Given the description of an element on the screen output the (x, y) to click on. 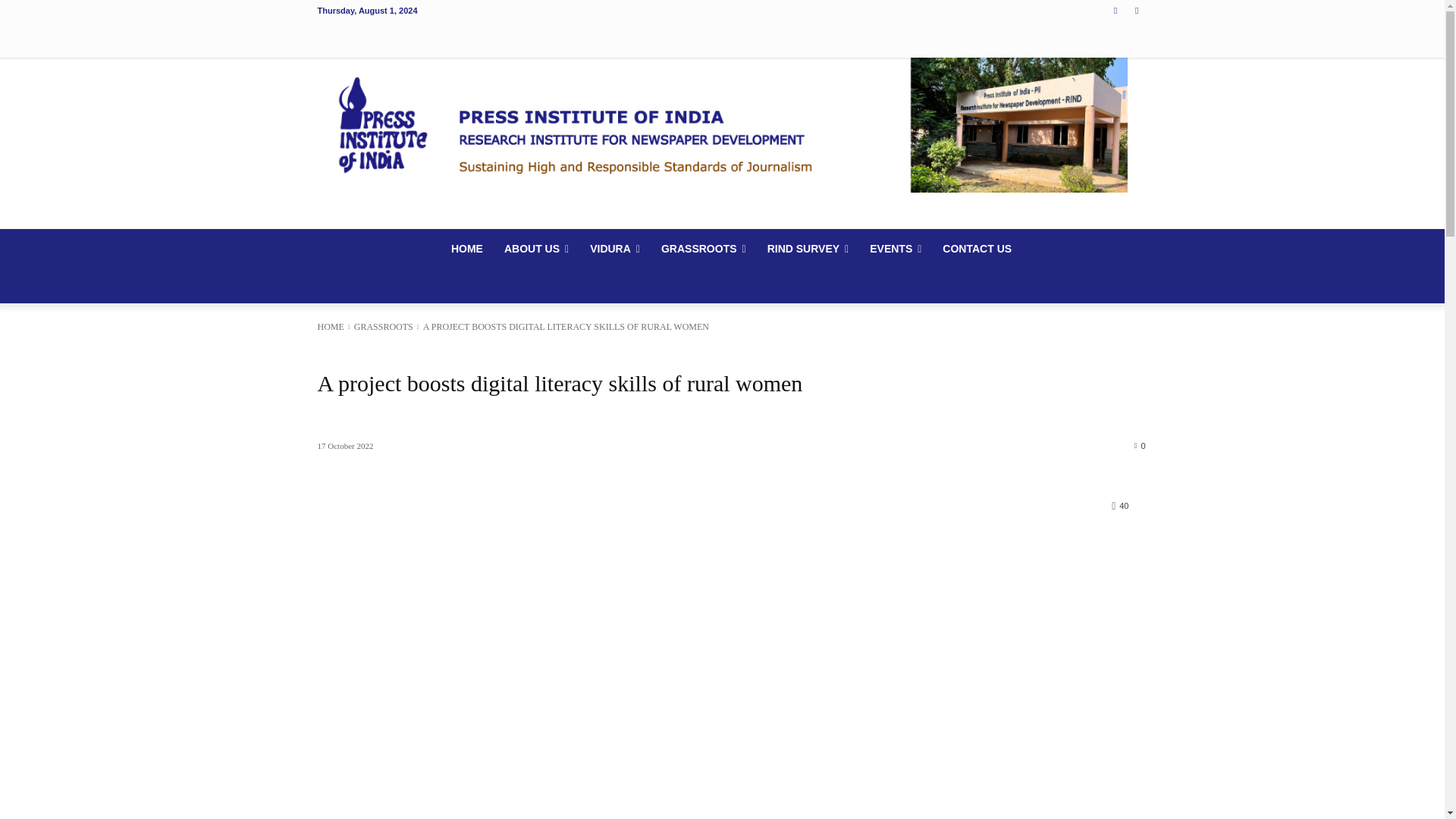
GRASSROOTS (703, 248)
Youtube (1136, 9)
HOME (467, 248)
Facebook (1115, 9)
ABOUT US (536, 248)
VIDURA (614, 248)
